Given the description of an element on the screen output the (x, y) to click on. 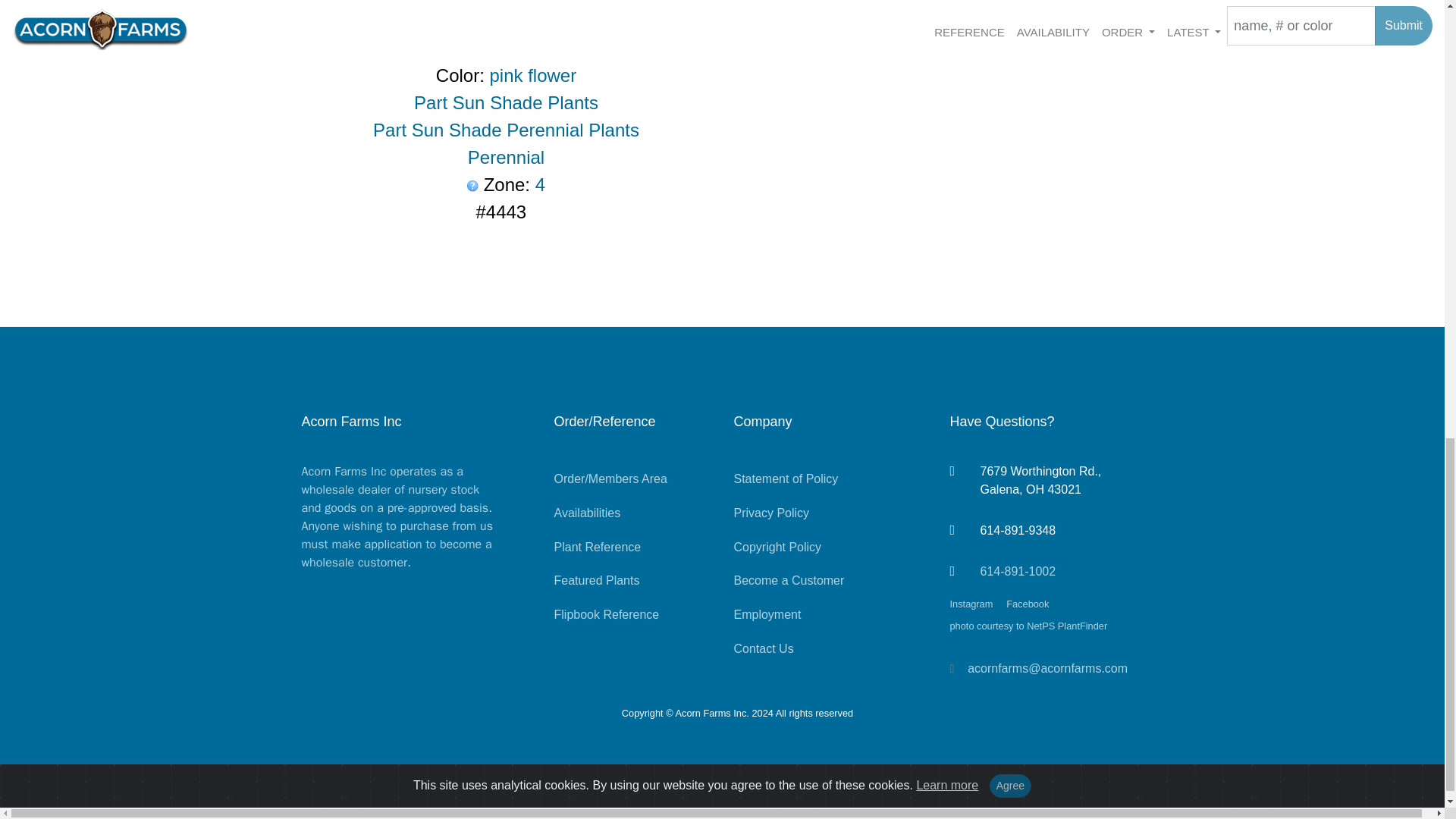
plant light attribute (505, 129)
Part Sun Shade Perennial Plants (505, 129)
pink flower (532, 75)
Other plants of this type (505, 157)
Find your zone (473, 185)
Perennial (505, 157)
Part Sun Shade Plants (505, 102)
plant color  (532, 75)
plant light attribute (505, 102)
